Given the description of an element on the screen output the (x, y) to click on. 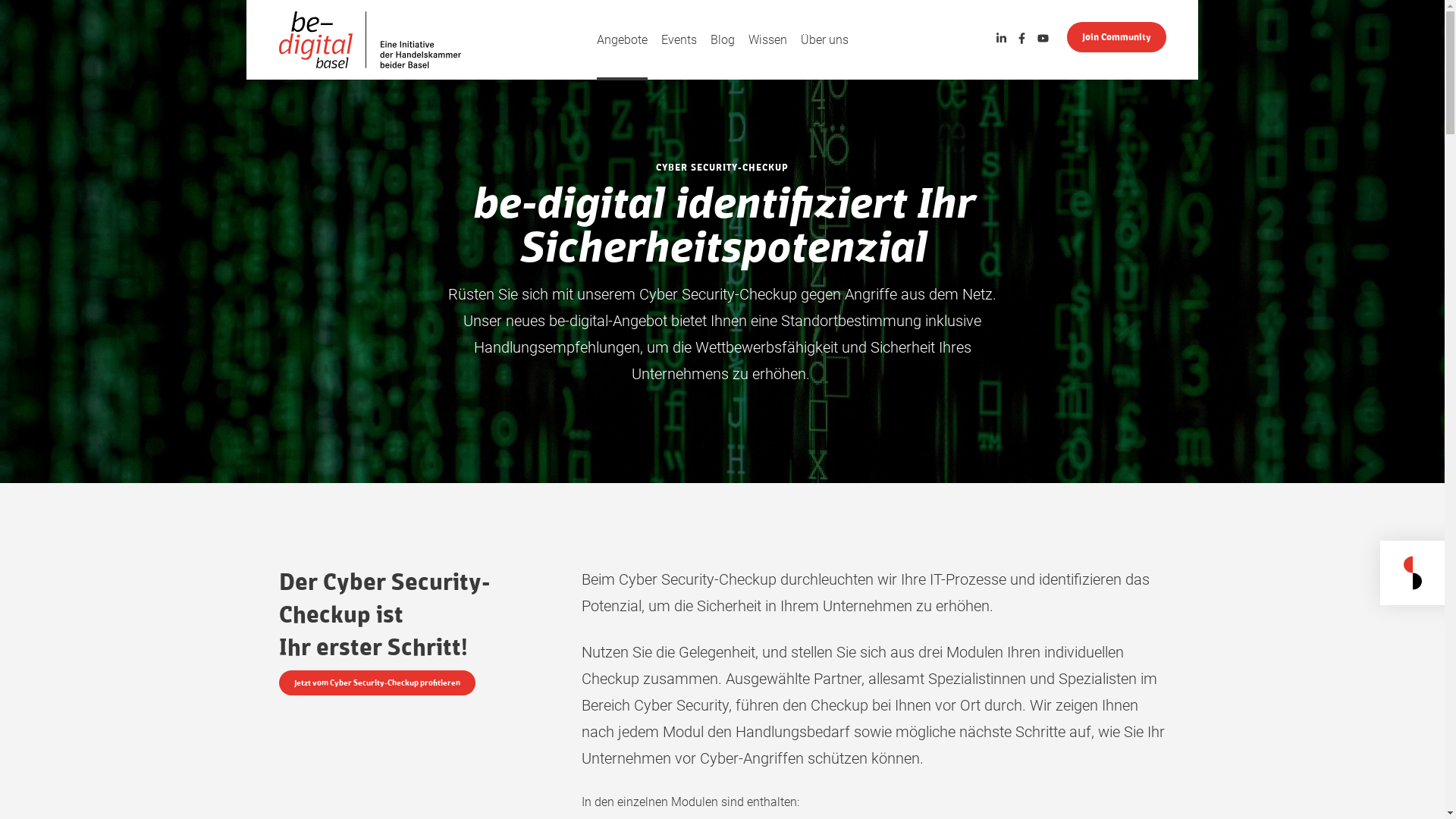
Blog Element type: text (721, 39)
Join Community Element type: text (1115, 36)
Jetzt vom Cyber Security-Checkup profitieren Element type: text (377, 682)
Angebote Element type: text (621, 39)
Wissen Element type: text (766, 39)
Events Element type: text (678, 39)
